Given the description of an element on the screen output the (x, y) to click on. 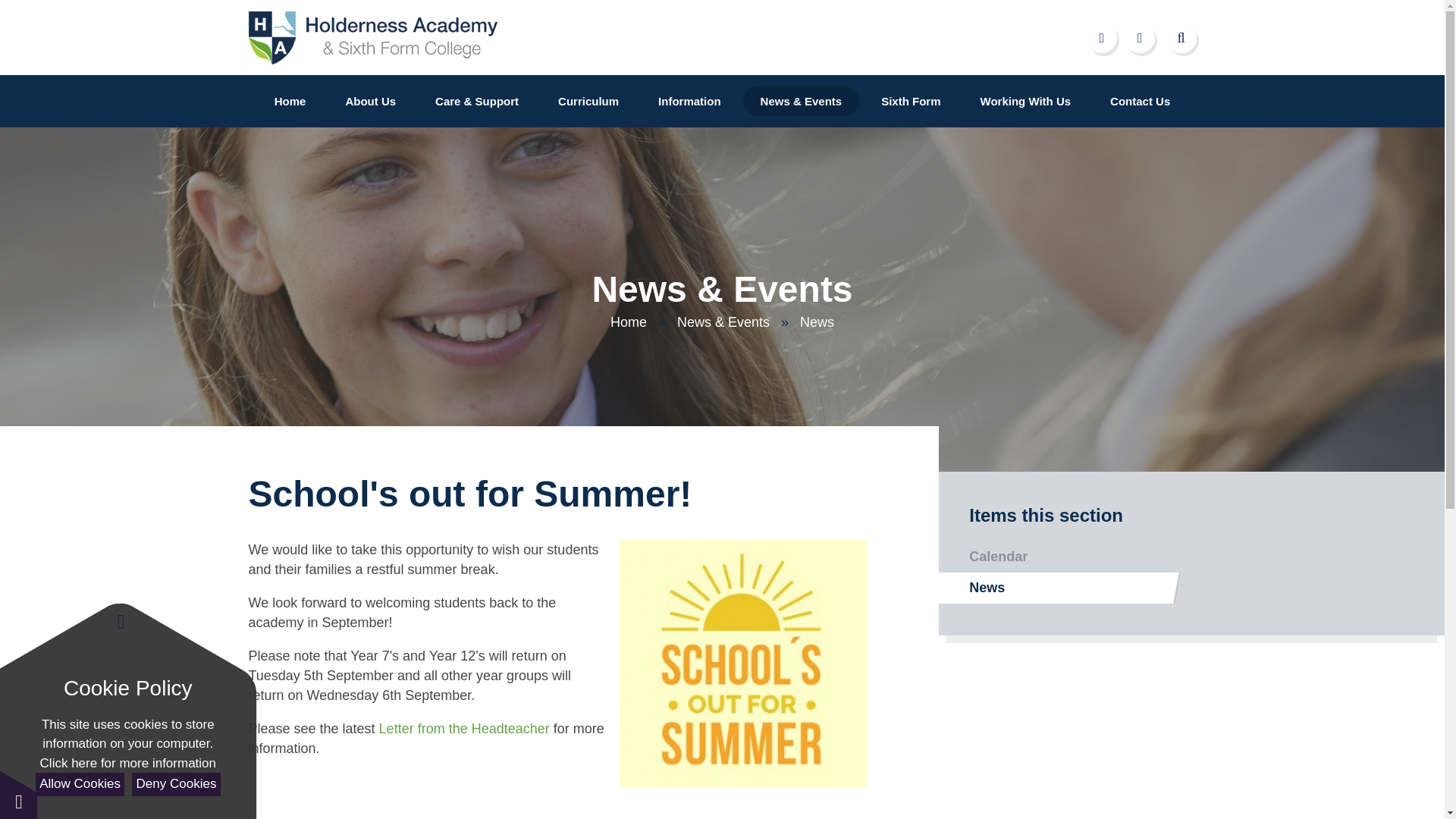
See cookie policy (127, 763)
About Us (370, 101)
Deny Cookies (175, 784)
Home (290, 101)
search (1185, 37)
Allow Cookies (78, 784)
